Given the description of an element on the screen output the (x, y) to click on. 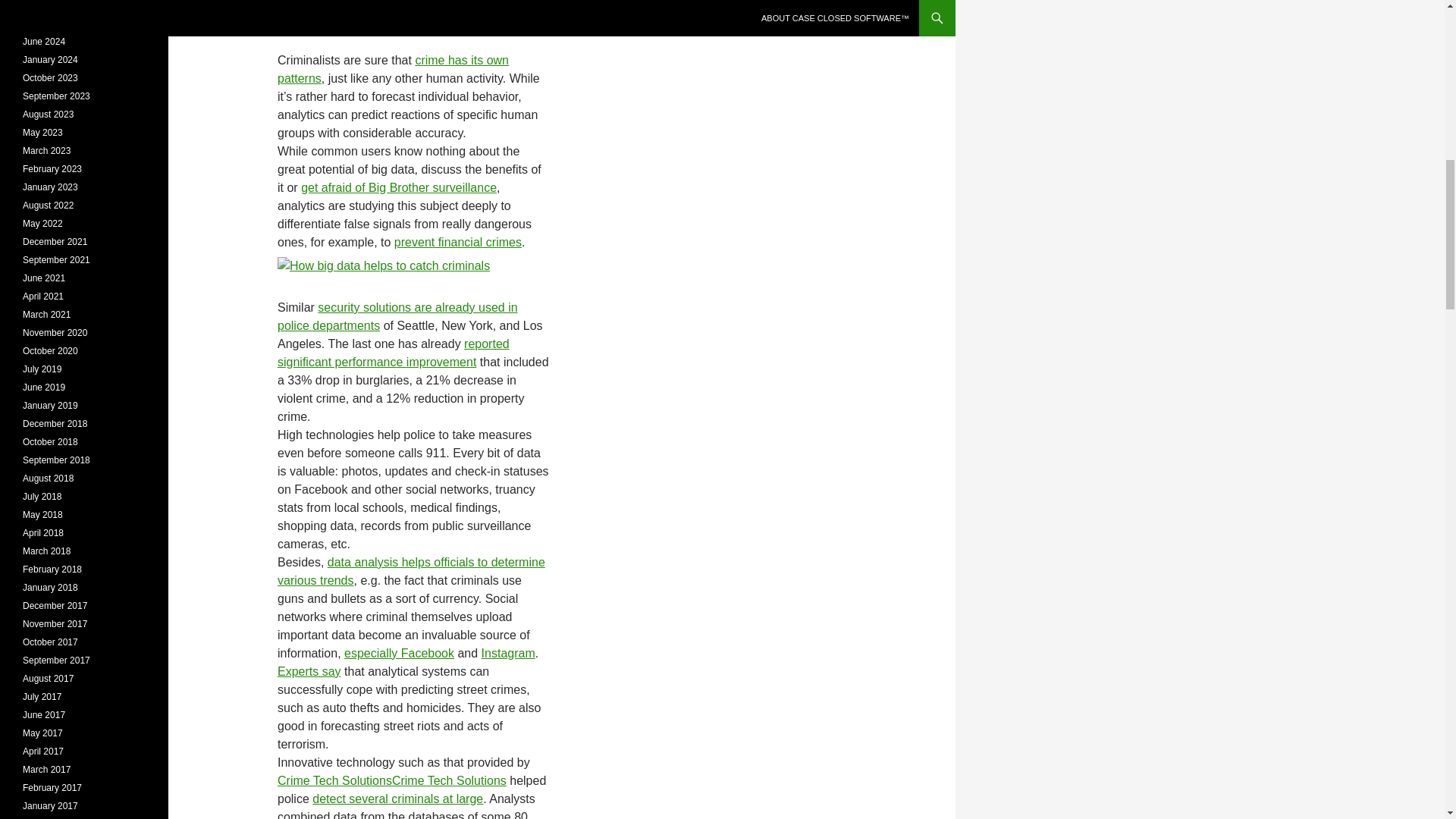
detect several criminals at large (398, 798)
reported significant performance improvement (393, 352)
Instagram (508, 653)
especially Facebook (398, 653)
prevent financial crimes (457, 241)
data analysis helps officials to determine various trends (411, 571)
security solutions are already used in police departments (398, 316)
crime has its own patterns (393, 69)
get afraid of Big Brother surveillance (398, 187)
Crime Tech Solutions (448, 780)
